Given the description of an element on the screen output the (x, y) to click on. 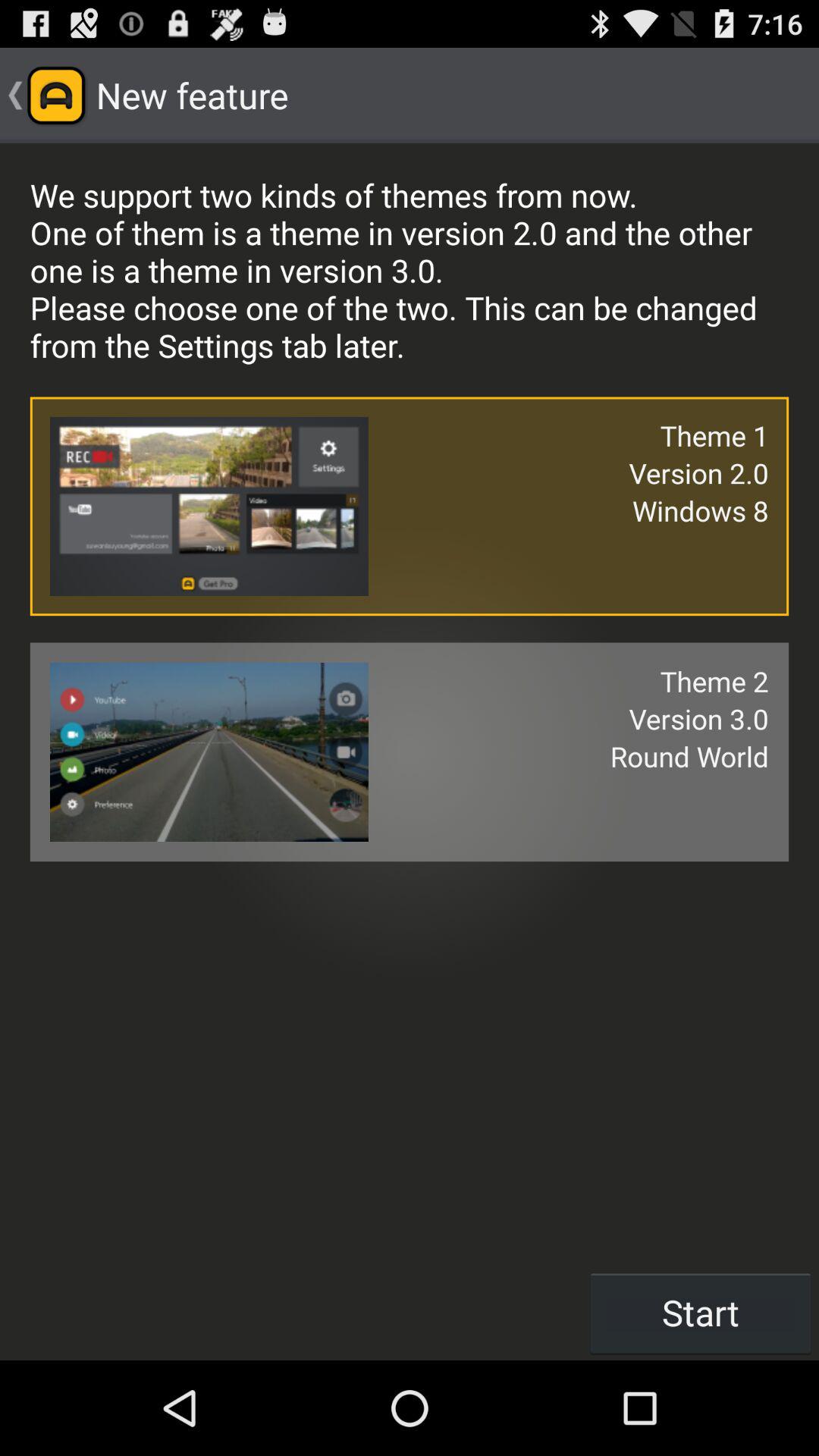
open item at the bottom right corner (700, 1312)
